Given the description of an element on the screen output the (x, y) to click on. 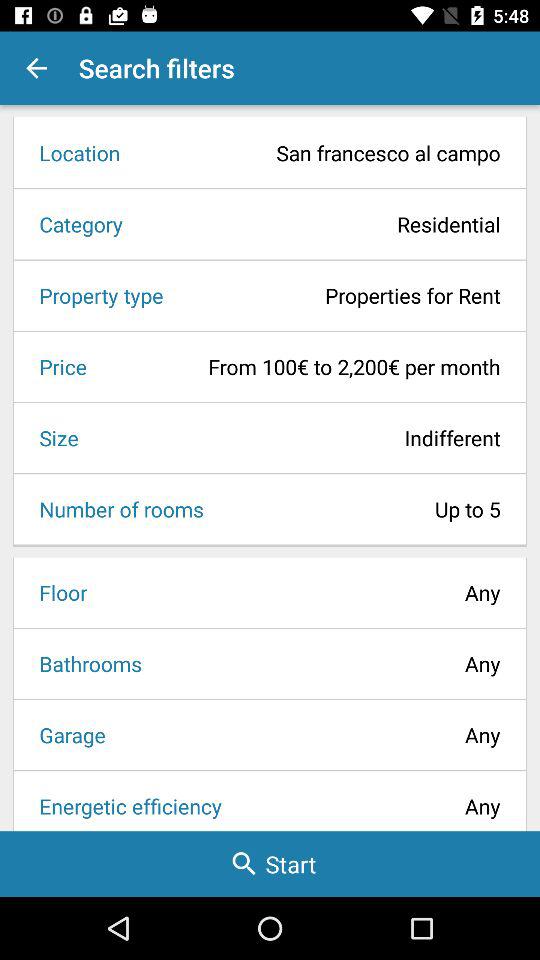
launch the icon to the right of the size icon (295, 437)
